Given the description of an element on the screen output the (x, y) to click on. 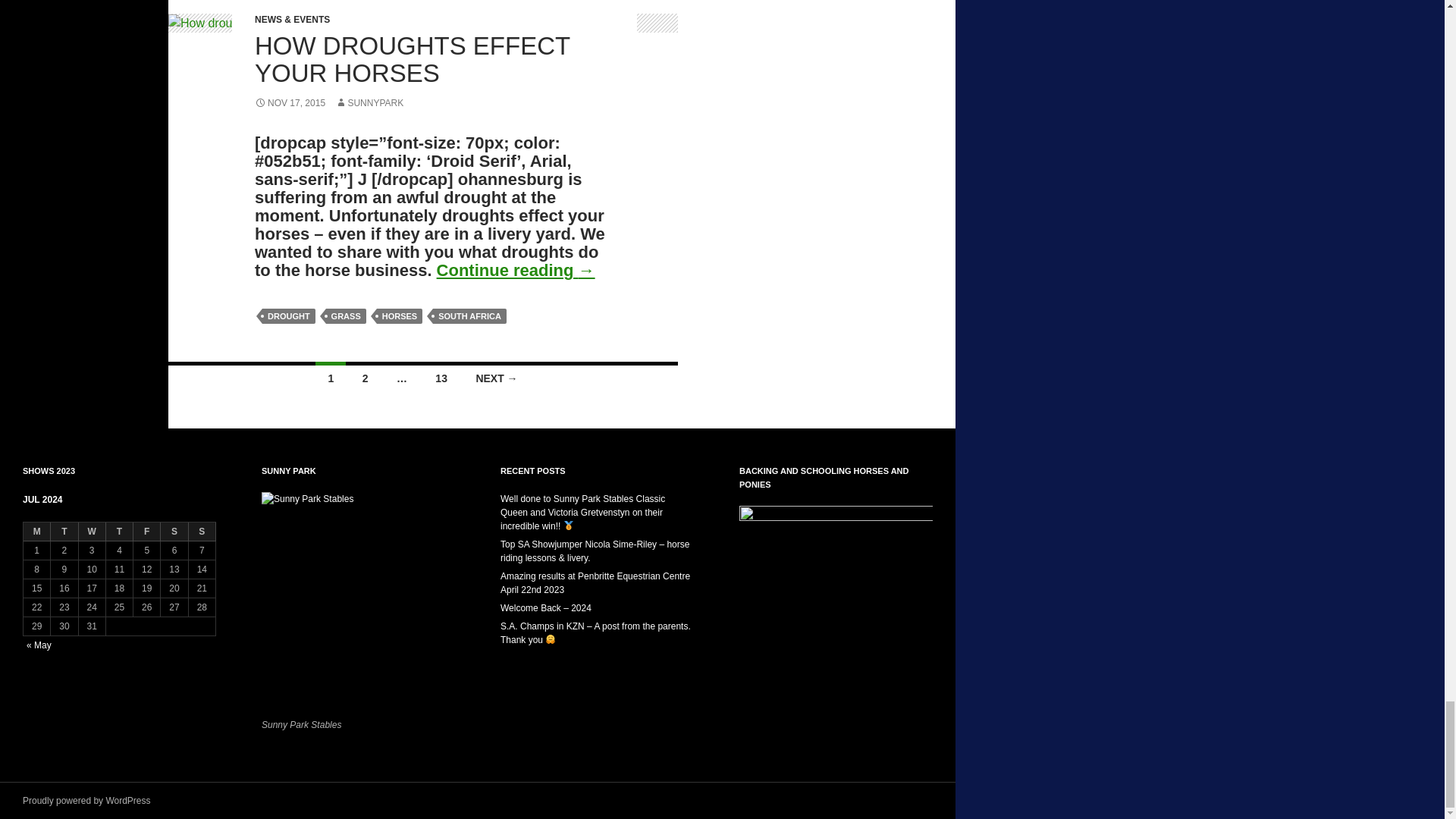
Thu (119, 531)
Sat (173, 531)
Tue (64, 531)
Wed (92, 531)
Fri (146, 531)
Sun (202, 531)
Mon (36, 531)
